Given the description of an element on the screen output the (x, y) to click on. 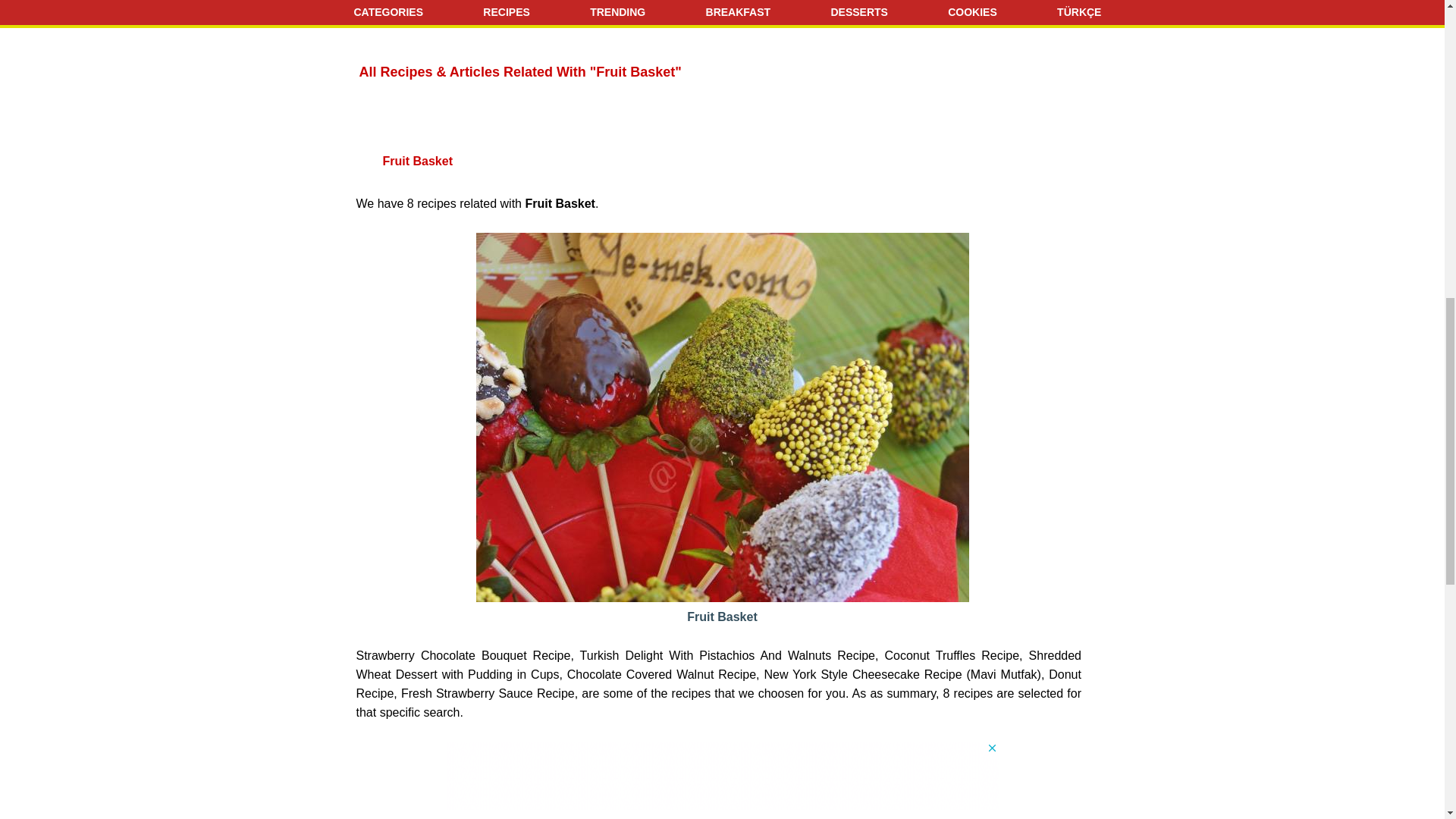
3rd party ad content (721, 775)
Fruit Basket (722, 607)
Fruit Basket (722, 607)
